Given the description of an element on the screen output the (x, y) to click on. 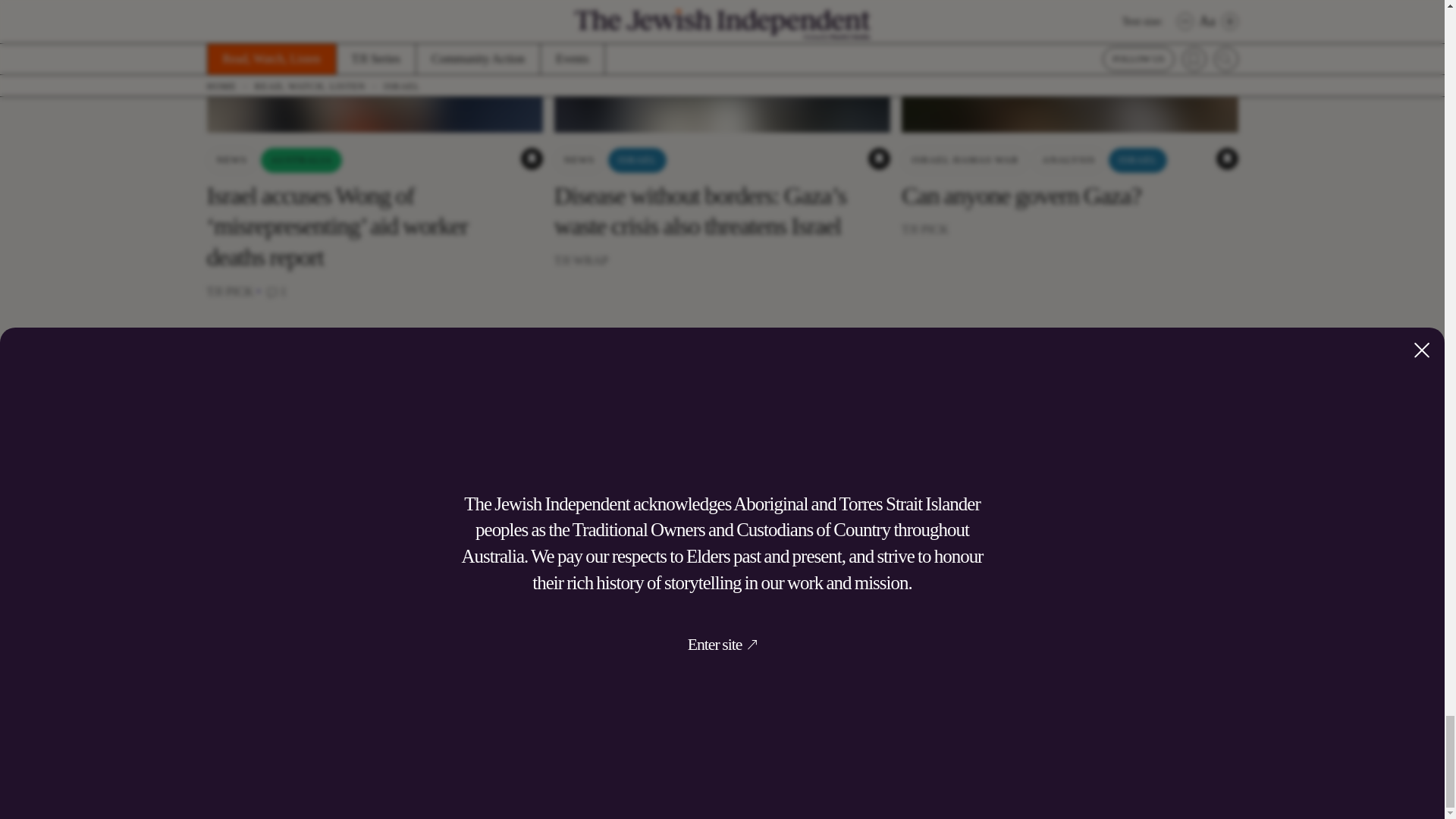
Add to your saved articles (878, 158)
Add to your saved articles (1227, 158)
Add to your saved articles (532, 158)
